Given the description of an element on the screen output the (x, y) to click on. 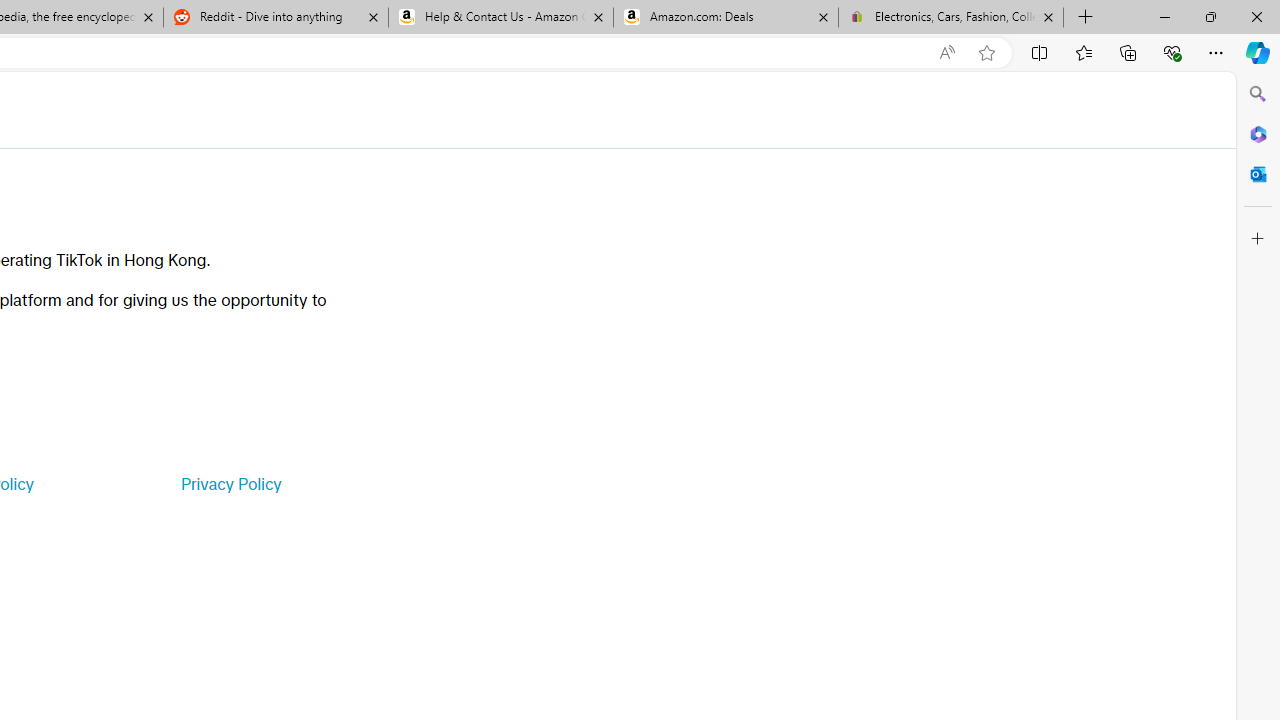
Privacy Policy (230, 484)
